Given the description of an element on the screen output the (x, y) to click on. 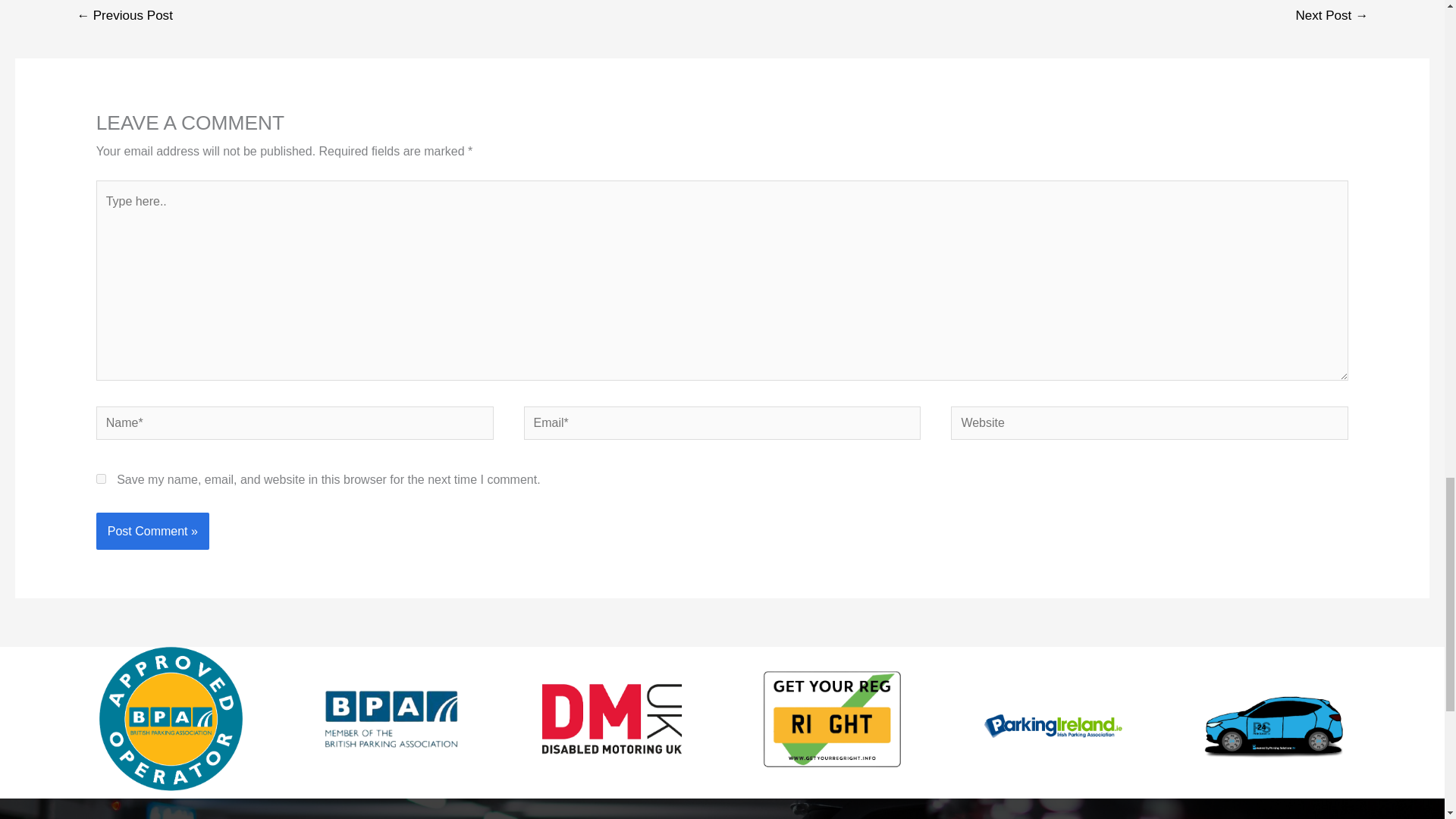
yes (101, 479)
